Given the description of an element on the screen output the (x, y) to click on. 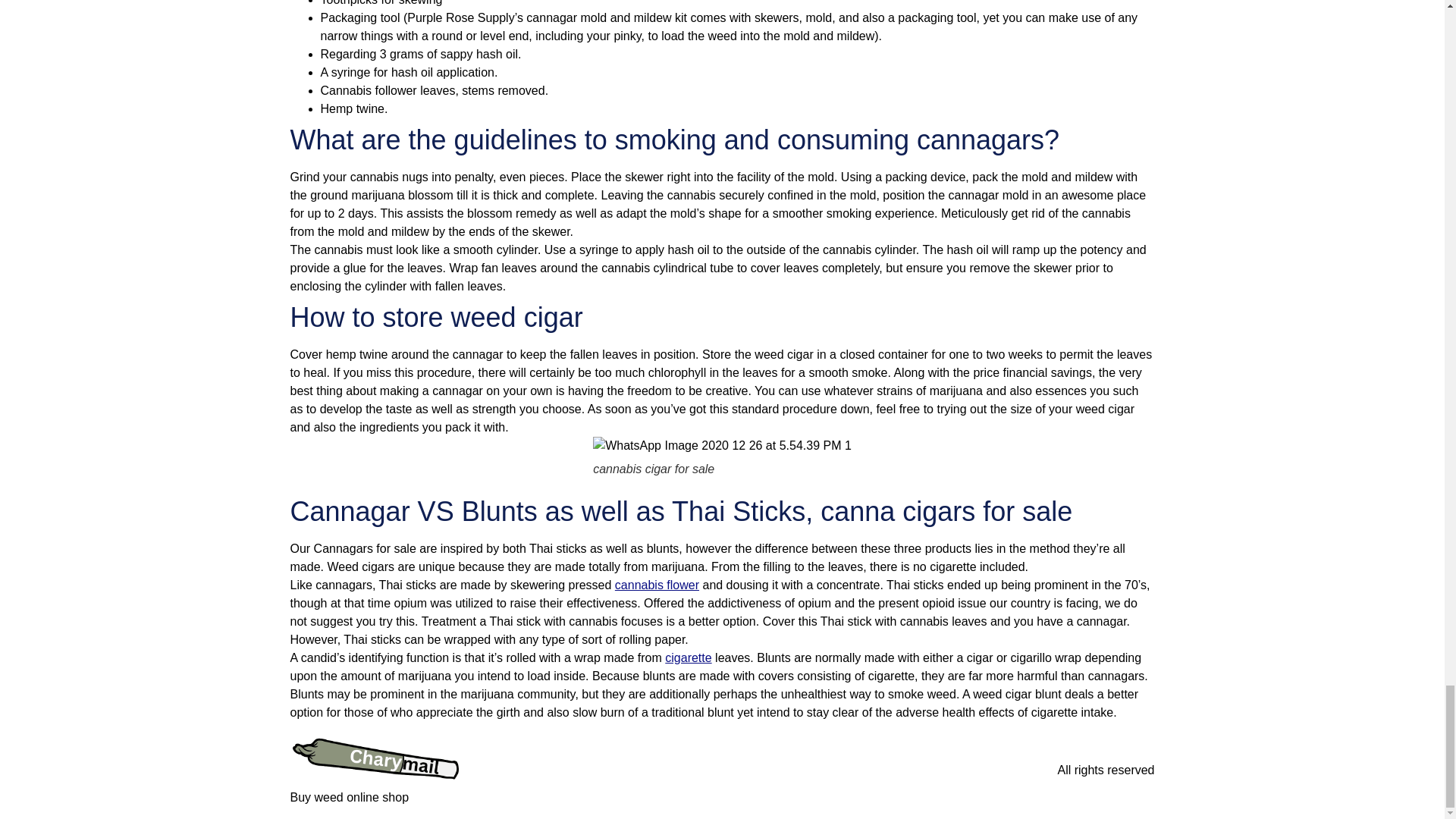
Cannagars for sale online 5 (721, 445)
